Given the description of an element on the screen output the (x, y) to click on. 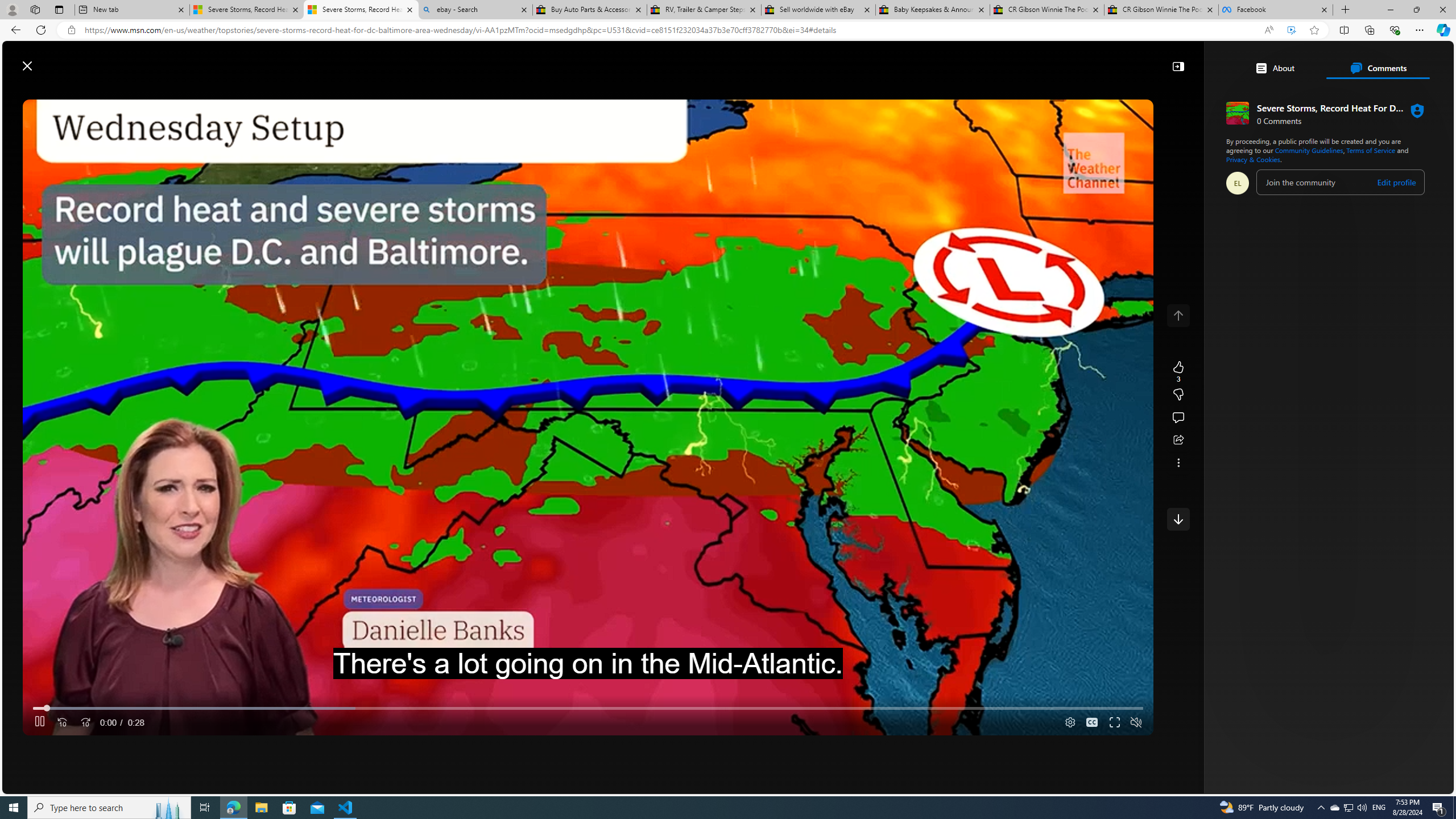
Ad Choice (1305, 601)
Enter your search term (730, 59)
Progress Bar (587, 708)
Start the conversation (1178, 417)
Watch (416, 92)
Seek Back (62, 723)
Skip to content (49, 59)
App bar (728, 29)
Open settings (1427, 60)
Notifications (1405, 60)
